Given the description of an element on the screen output the (x, y) to click on. 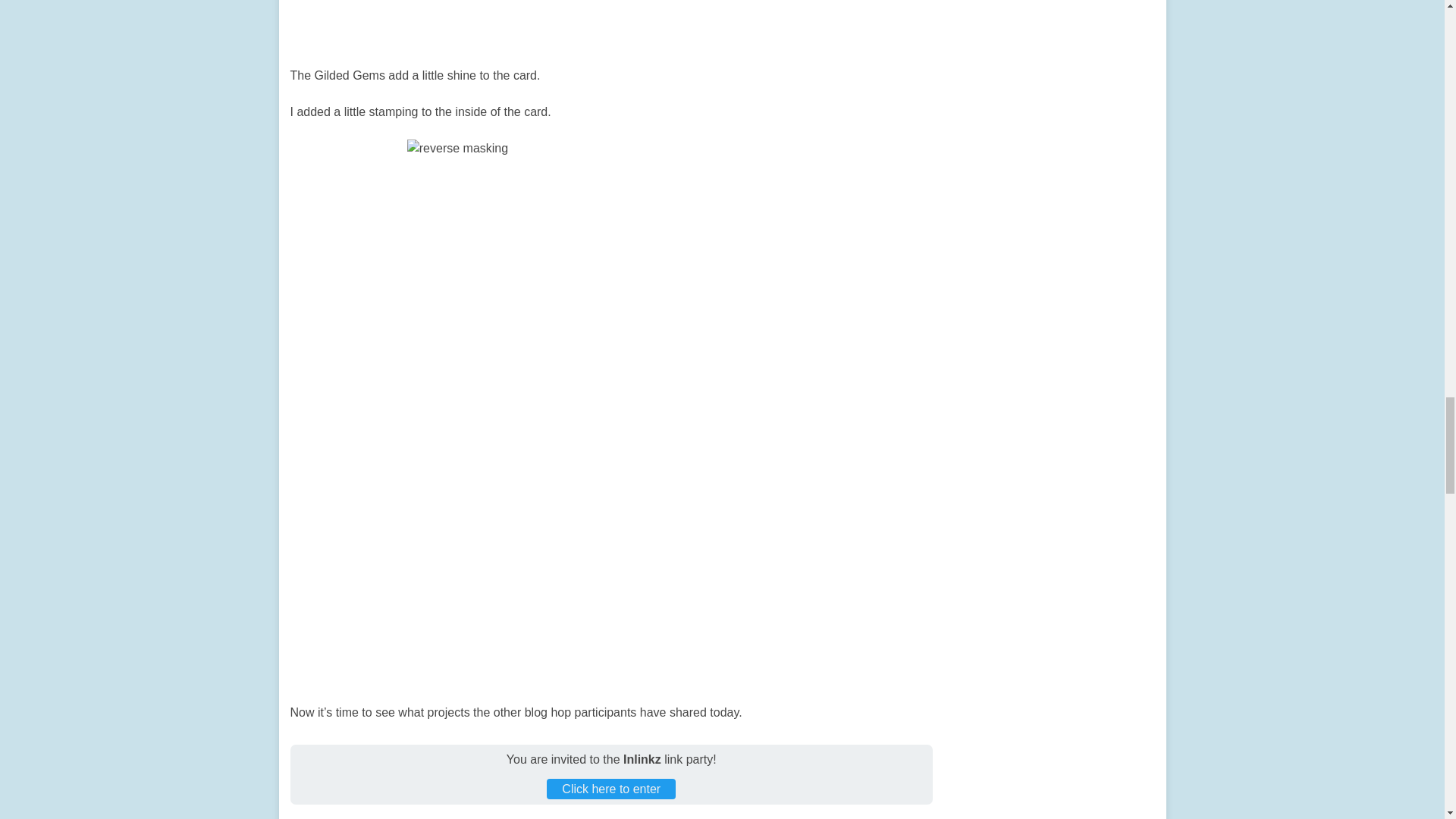
Click here to enter (611, 788)
